Given the description of an element on the screen output the (x, y) to click on. 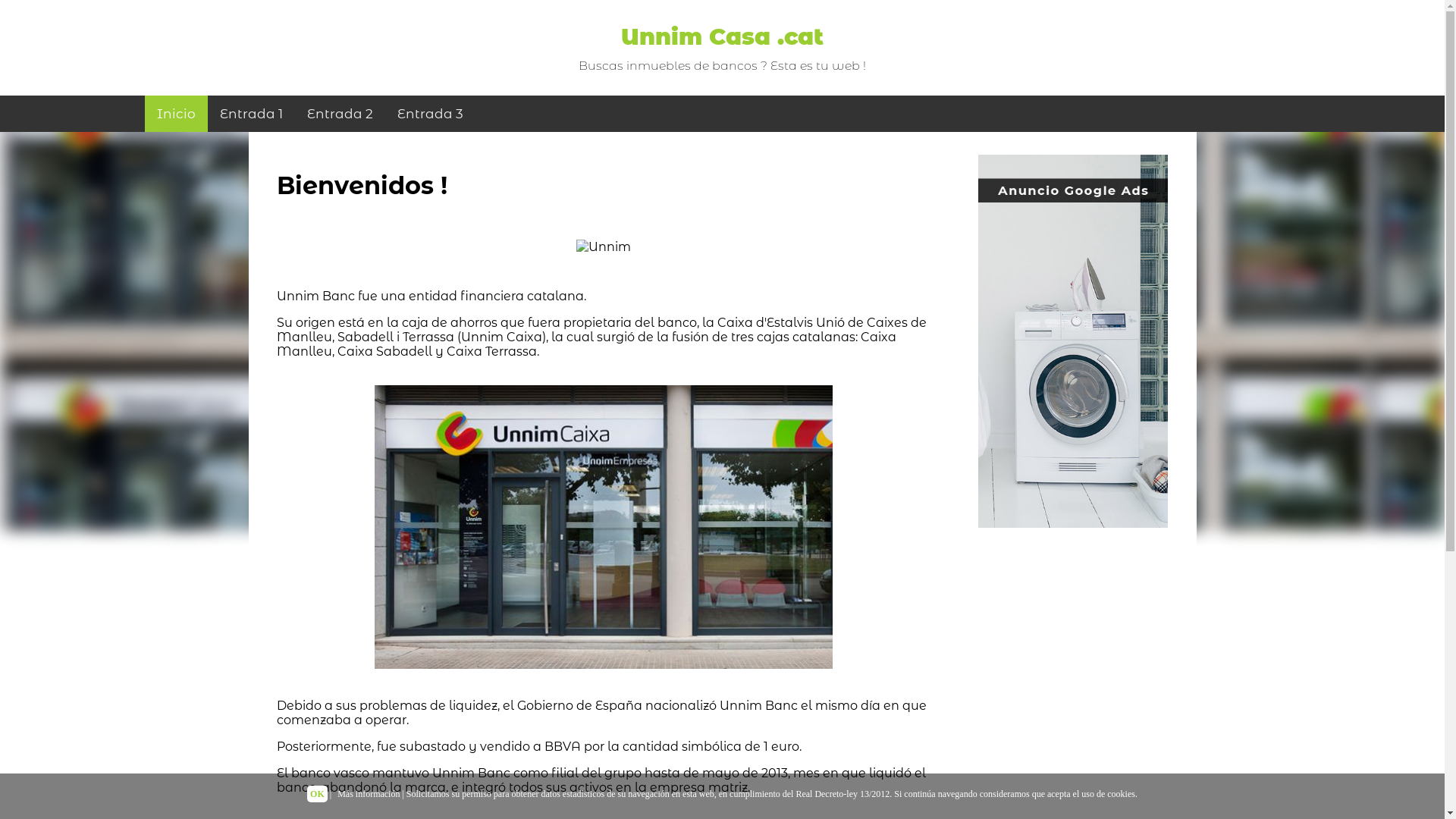
OK Element type: text (317, 793)
Unnim Casa .cat Element type: text (722, 36)
Entrada 2 Element type: text (339, 113)
Entrada 1 Element type: text (250, 113)
Entrada 3 Element type: text (430, 113)
Inicio Element type: text (175, 113)
